Given the description of an element on the screen output the (x, y) to click on. 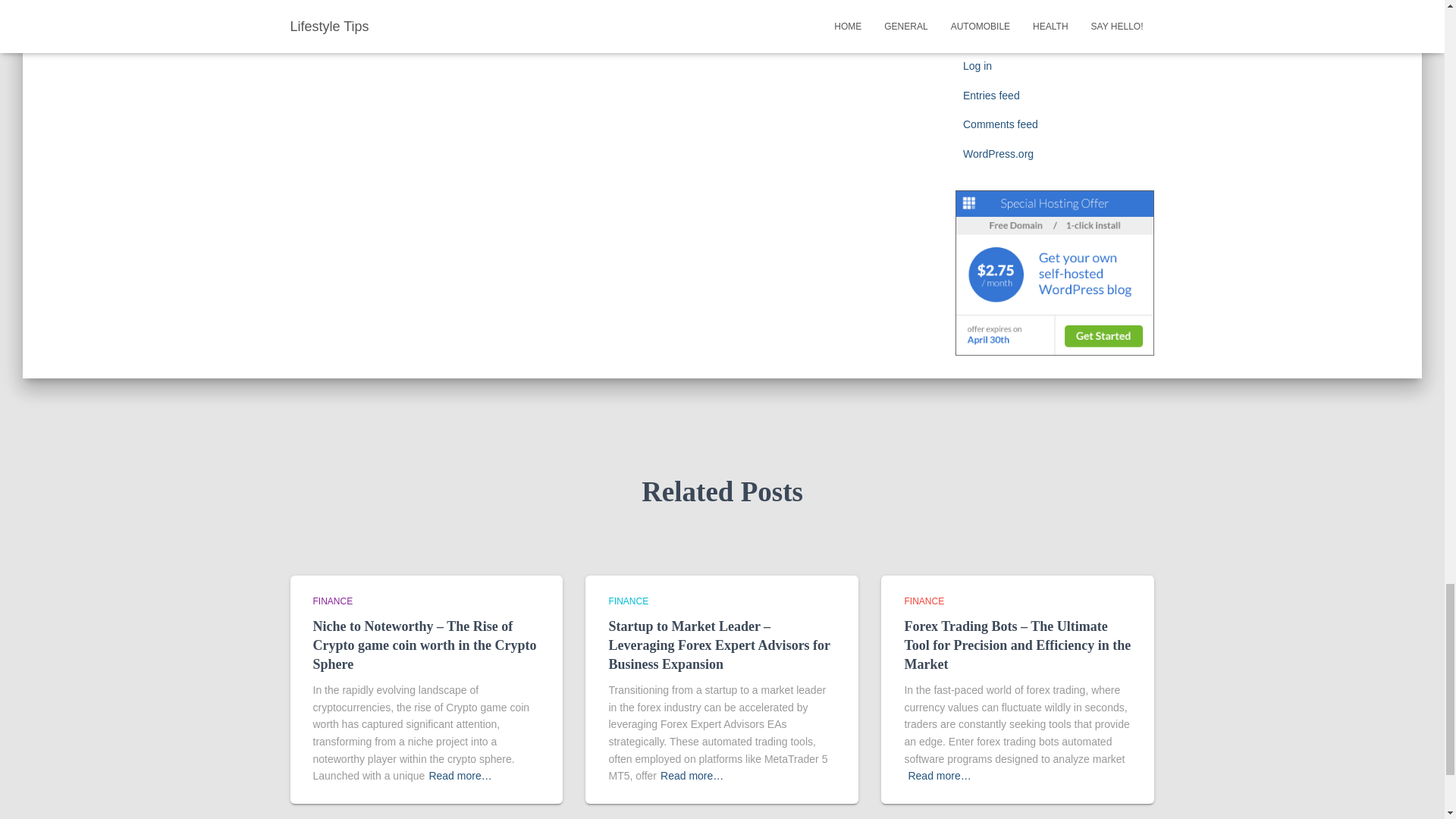
View all posts in Finance (627, 601)
View all posts in Finance (923, 601)
View all posts in Finance (332, 601)
